Given the description of an element on the screen output the (x, y) to click on. 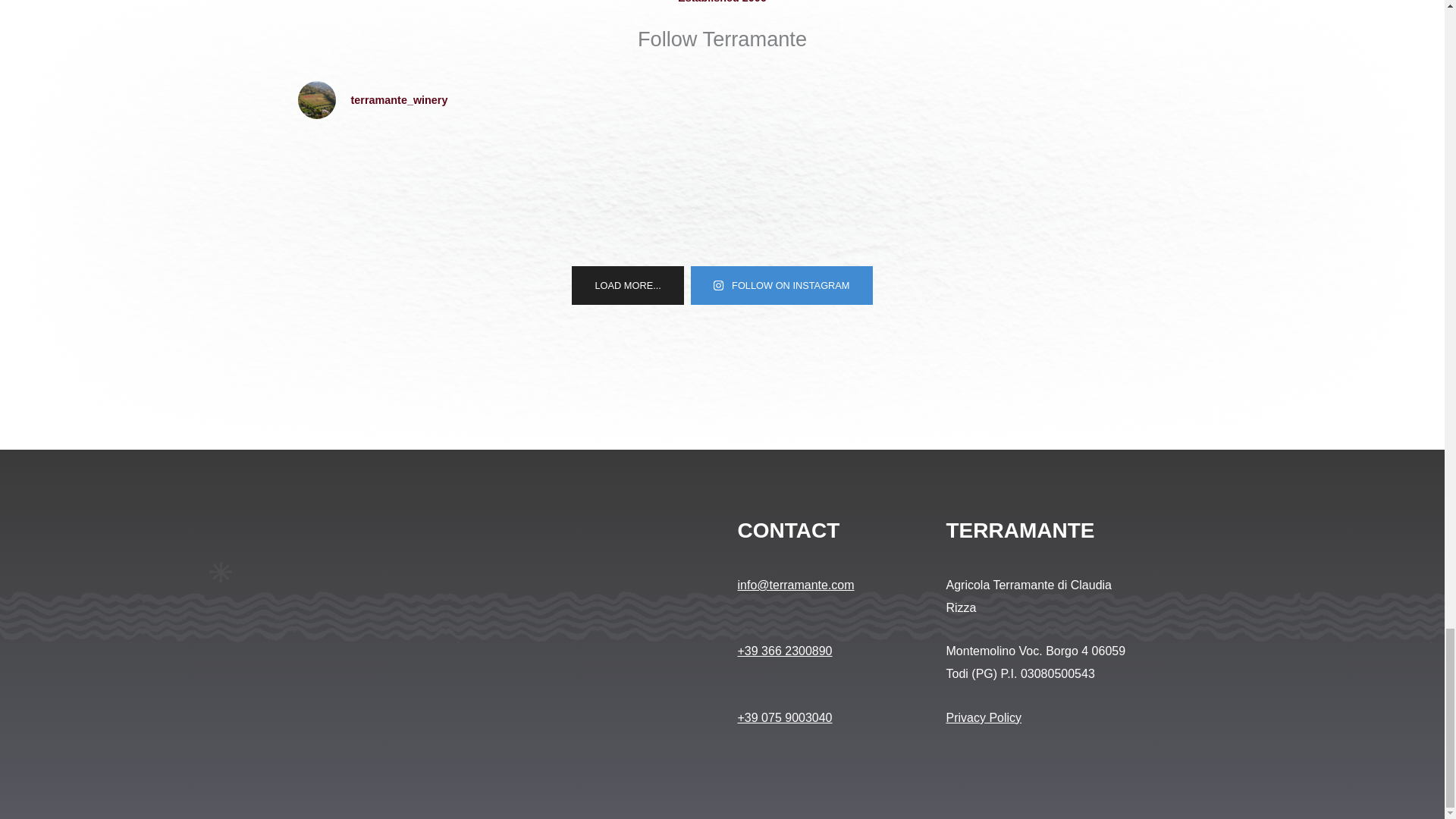
Privacy Policy (984, 717)
03080500543 (1057, 673)
FOLLOW ON INSTAGRAM (781, 285)
LOAD MORE... (627, 285)
